Given the description of an element on the screen output the (x, y) to click on. 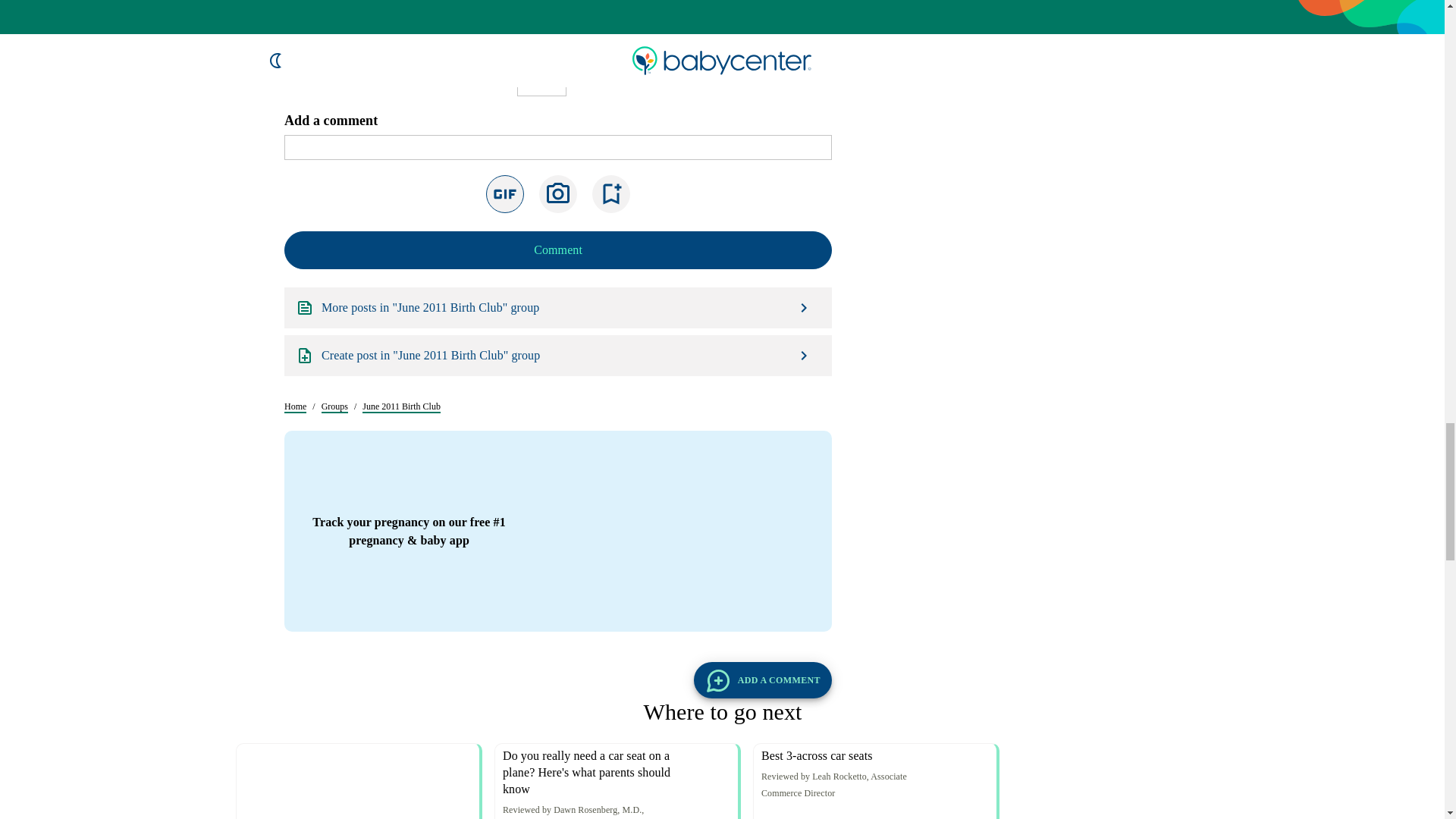
Go to page number (541, 581)
1 (541, 581)
